Given the description of an element on the screen output the (x, y) to click on. 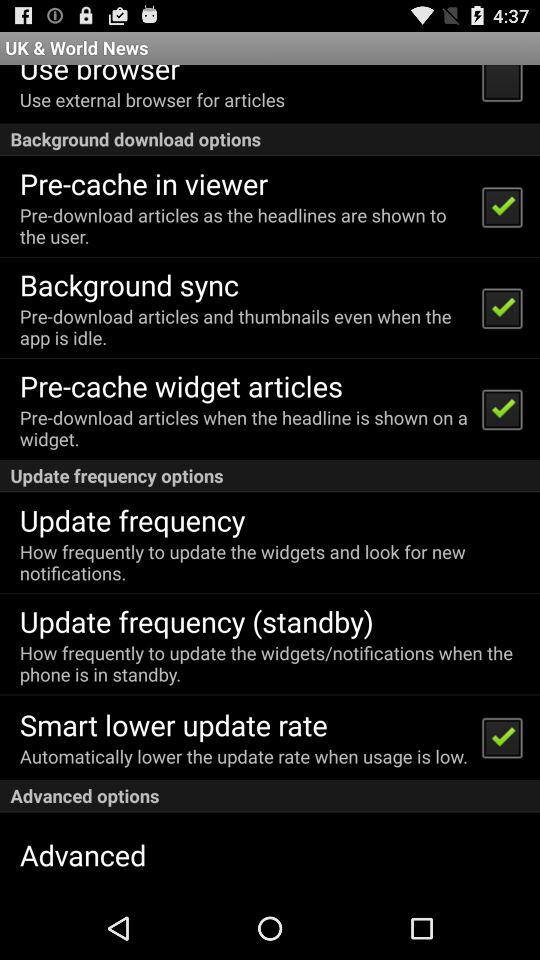
turn on item below pre download articles item (128, 284)
